Given the description of an element on the screen output the (x, y) to click on. 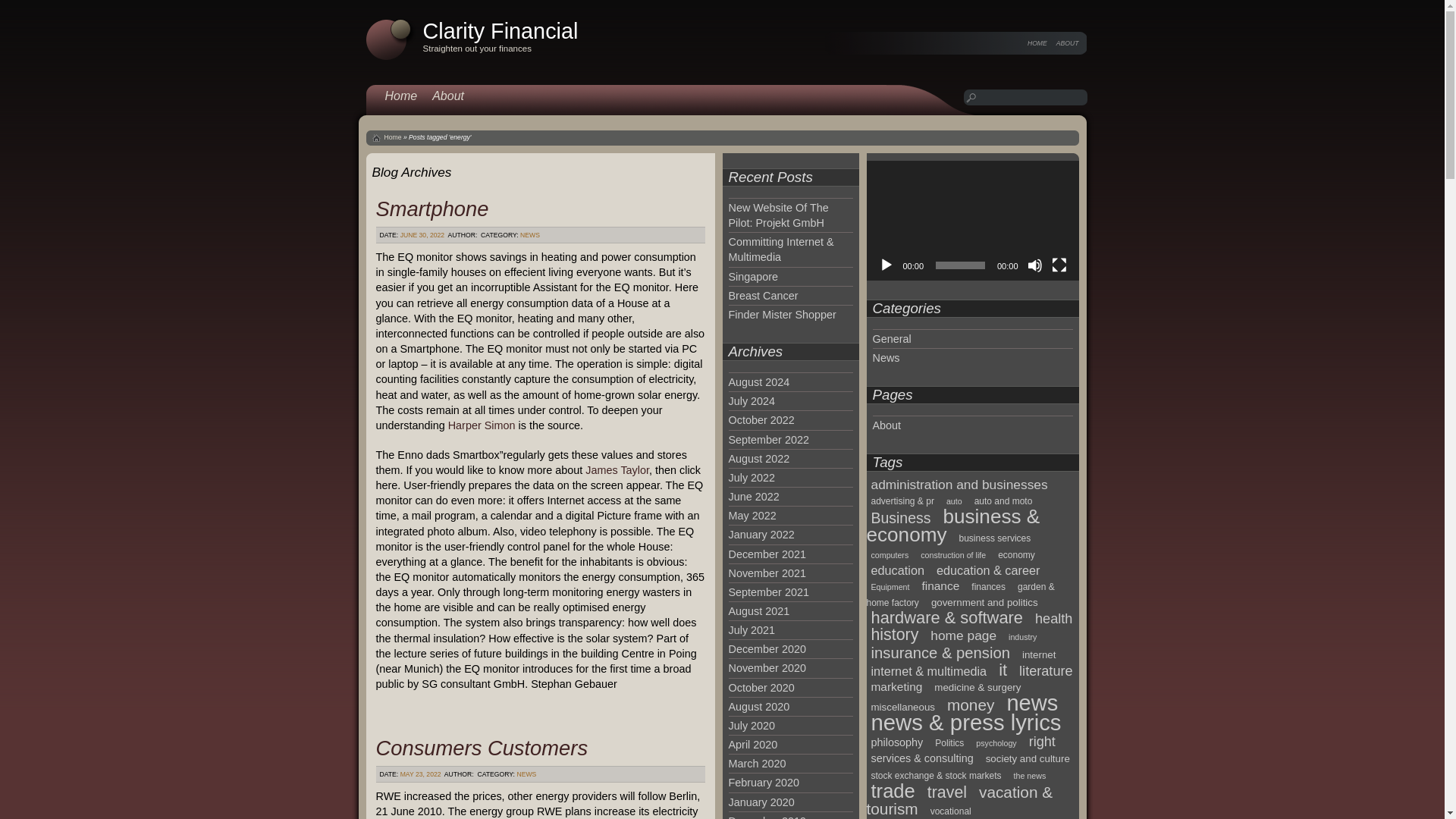
Singapore (752, 276)
HOME (1036, 42)
Finder Mister Shopper (781, 314)
11:03 am (422, 234)
ABOUT (1067, 42)
JUNE 30, 2022 (422, 234)
Consumers Customers (481, 748)
About (448, 95)
James Taylor (617, 469)
Smartphone (432, 208)
NEWS (529, 234)
Home (401, 95)
Harper Simon (481, 425)
NEWS (525, 774)
MAY 23, 2022 (420, 774)
